Given the description of an element on the screen output the (x, y) to click on. 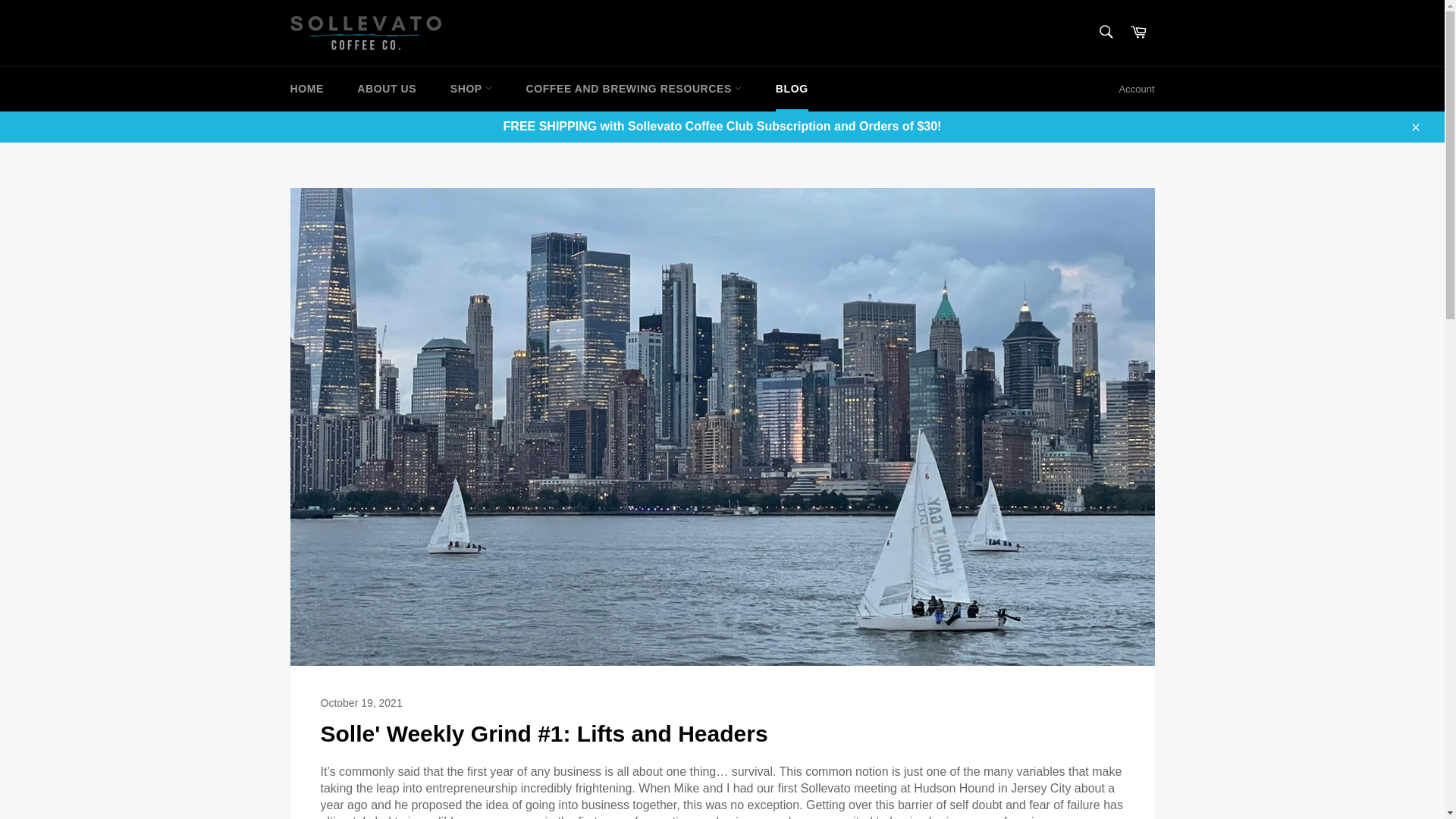
HOME (306, 88)
BLOG (792, 88)
SHOP (470, 88)
Cart (1138, 32)
COFFEE AND BREWING RESOURCES (634, 88)
ABOUT US (386, 88)
Search (1104, 31)
